Given the description of an element on the screen output the (x, y) to click on. 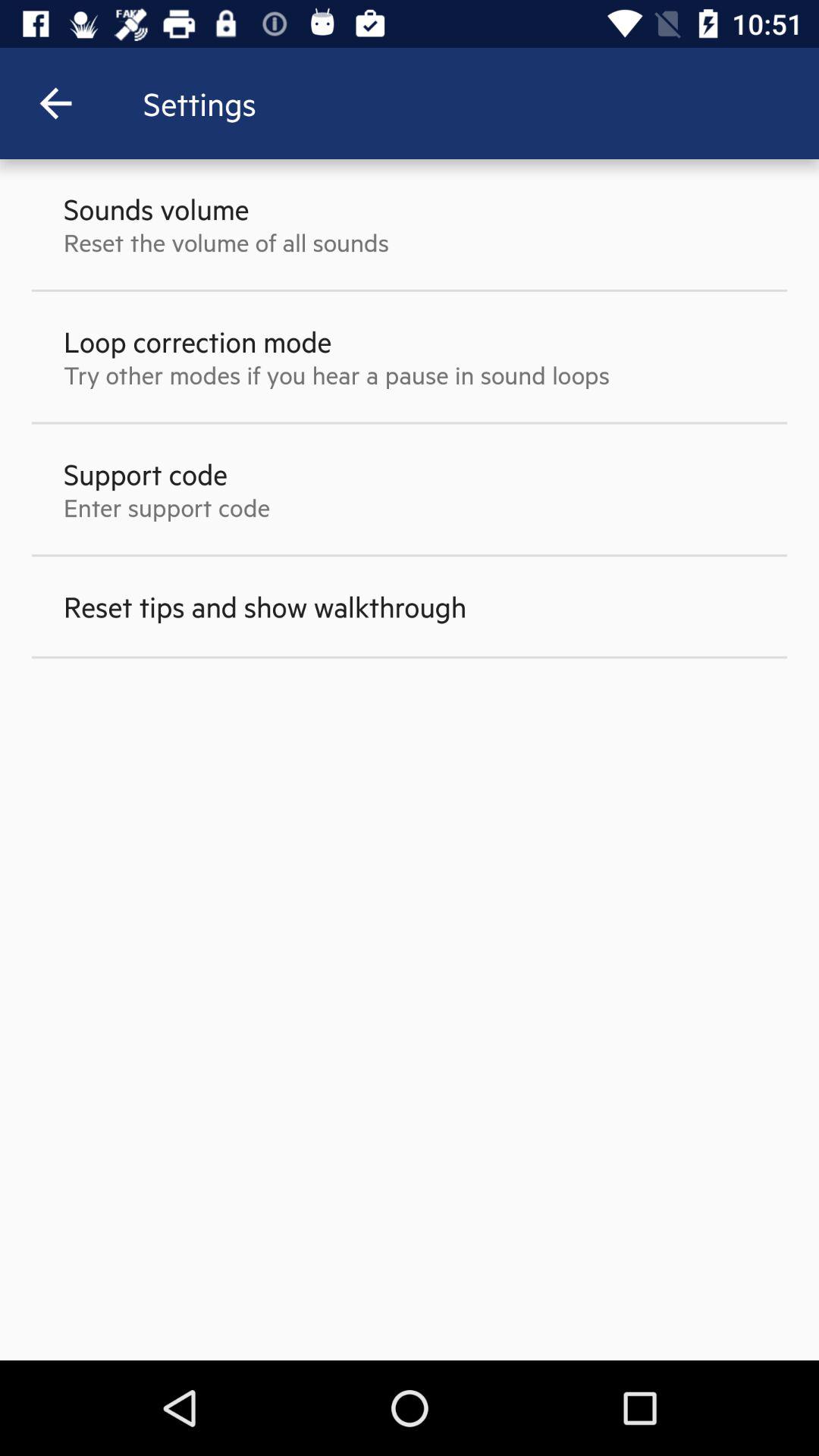
click the item below the sounds volume icon (226, 241)
